Given the description of an element on the screen output the (x, y) to click on. 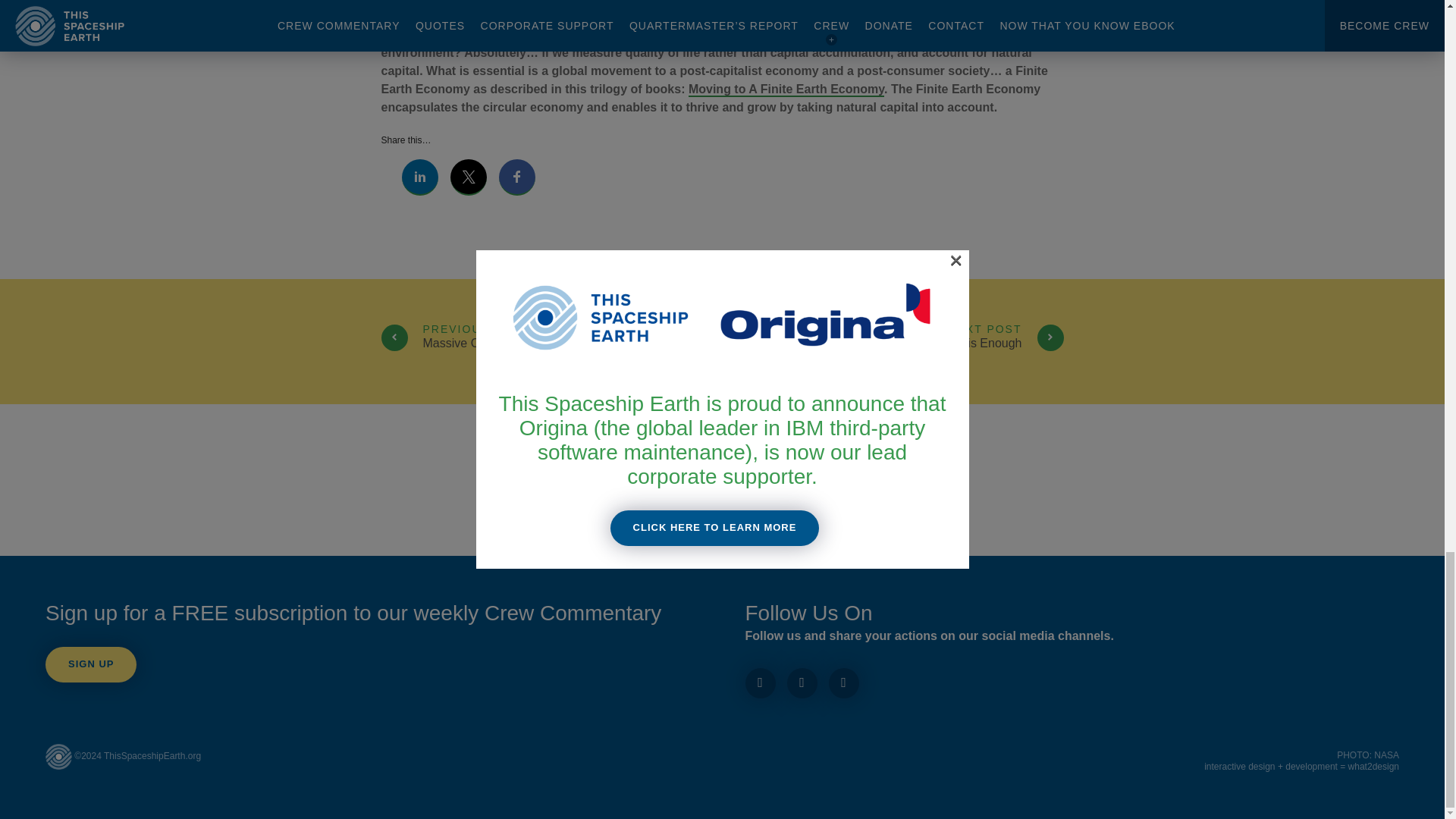
SIGN UP (90, 664)
Moving to A Finite Earth Economy (892, 341)
NASA (785, 89)
